Given the description of an element on the screen output the (x, y) to click on. 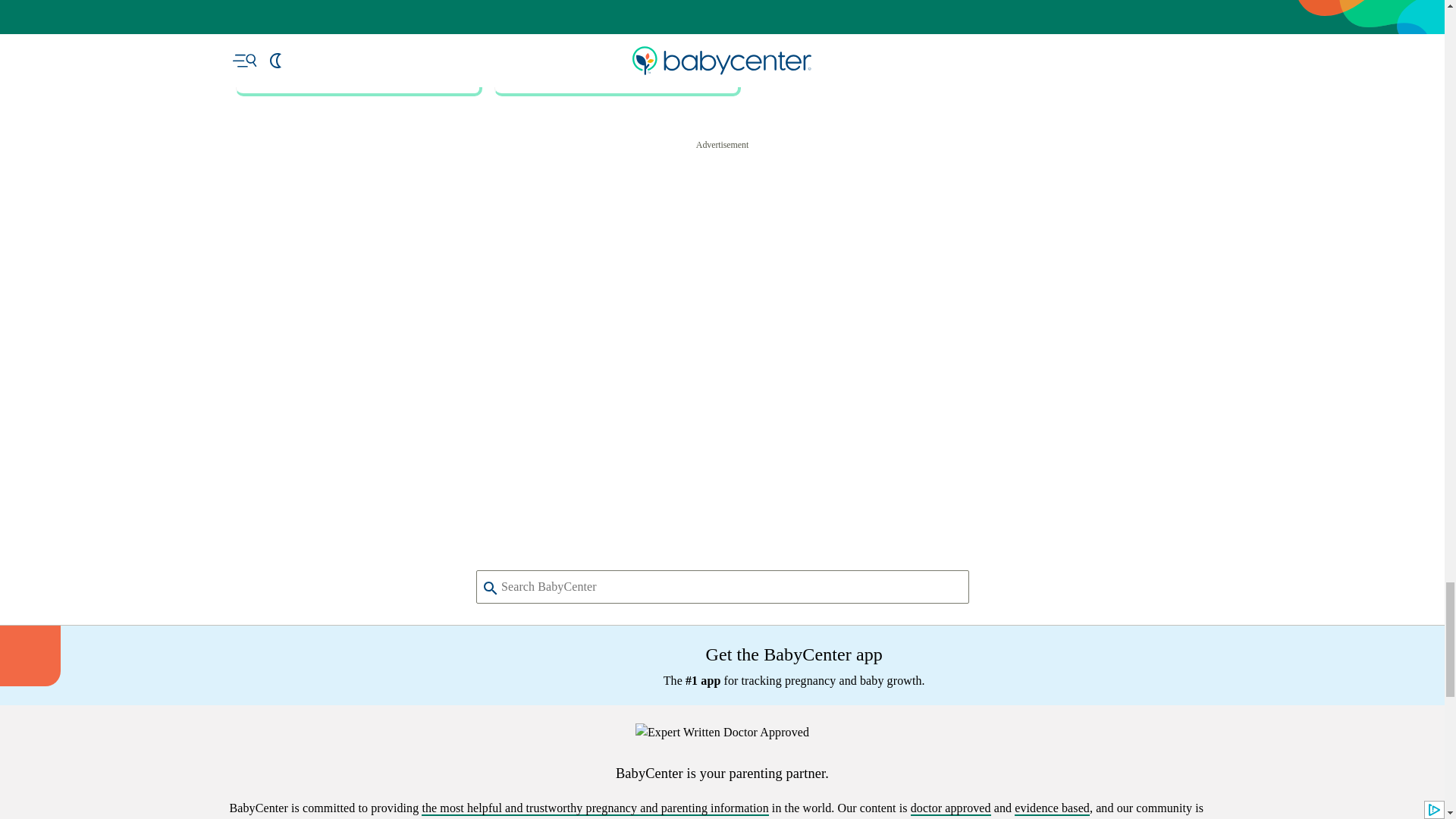
Go to page number (541, 169)
1 (541, 169)
